Given the description of an element on the screen output the (x, y) to click on. 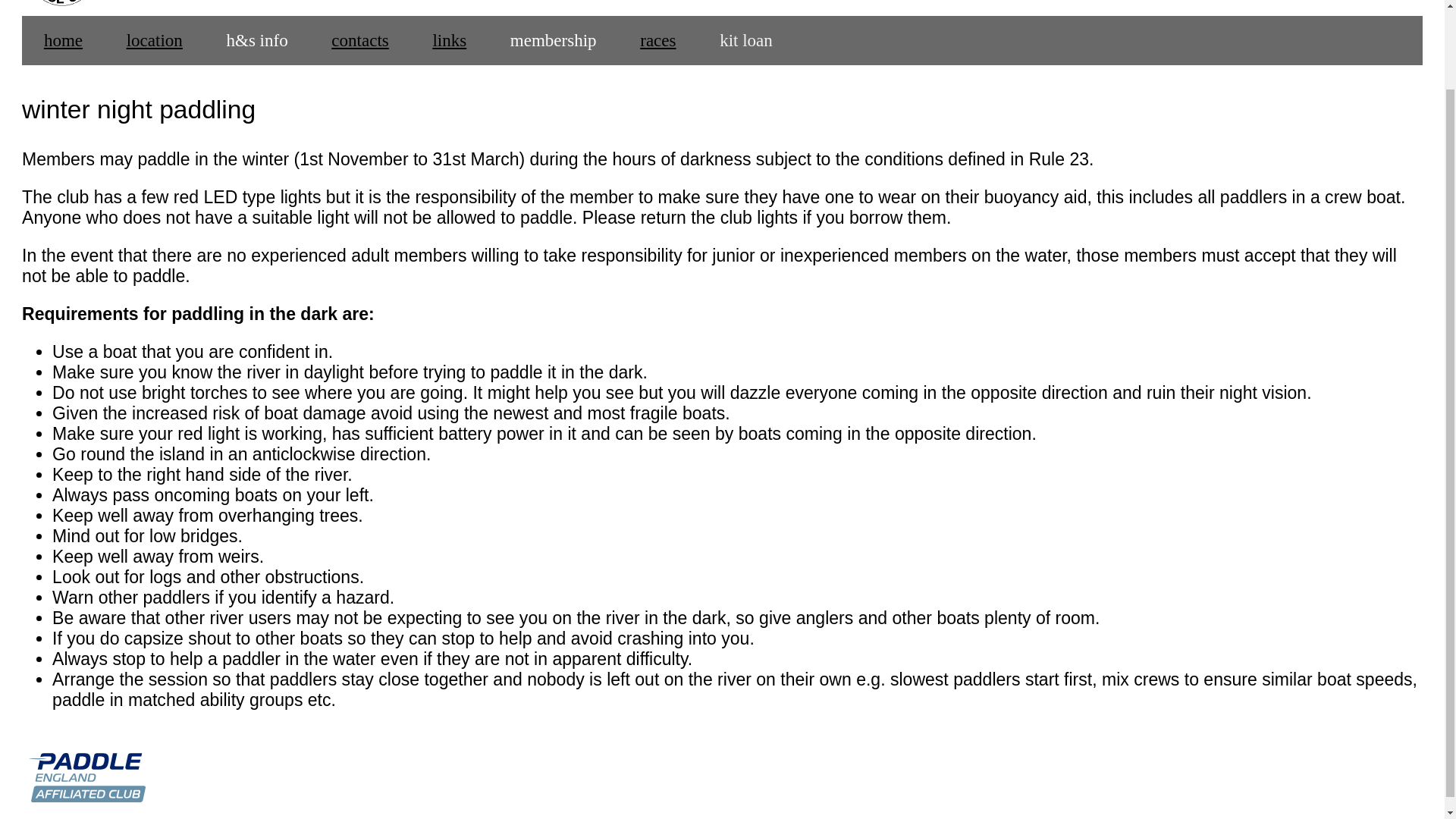
links (448, 40)
contacts (360, 40)
location (154, 40)
races (657, 40)
kit loan (745, 40)
membership (552, 40)
home (62, 40)
